Given the description of an element on the screen output the (x, y) to click on. 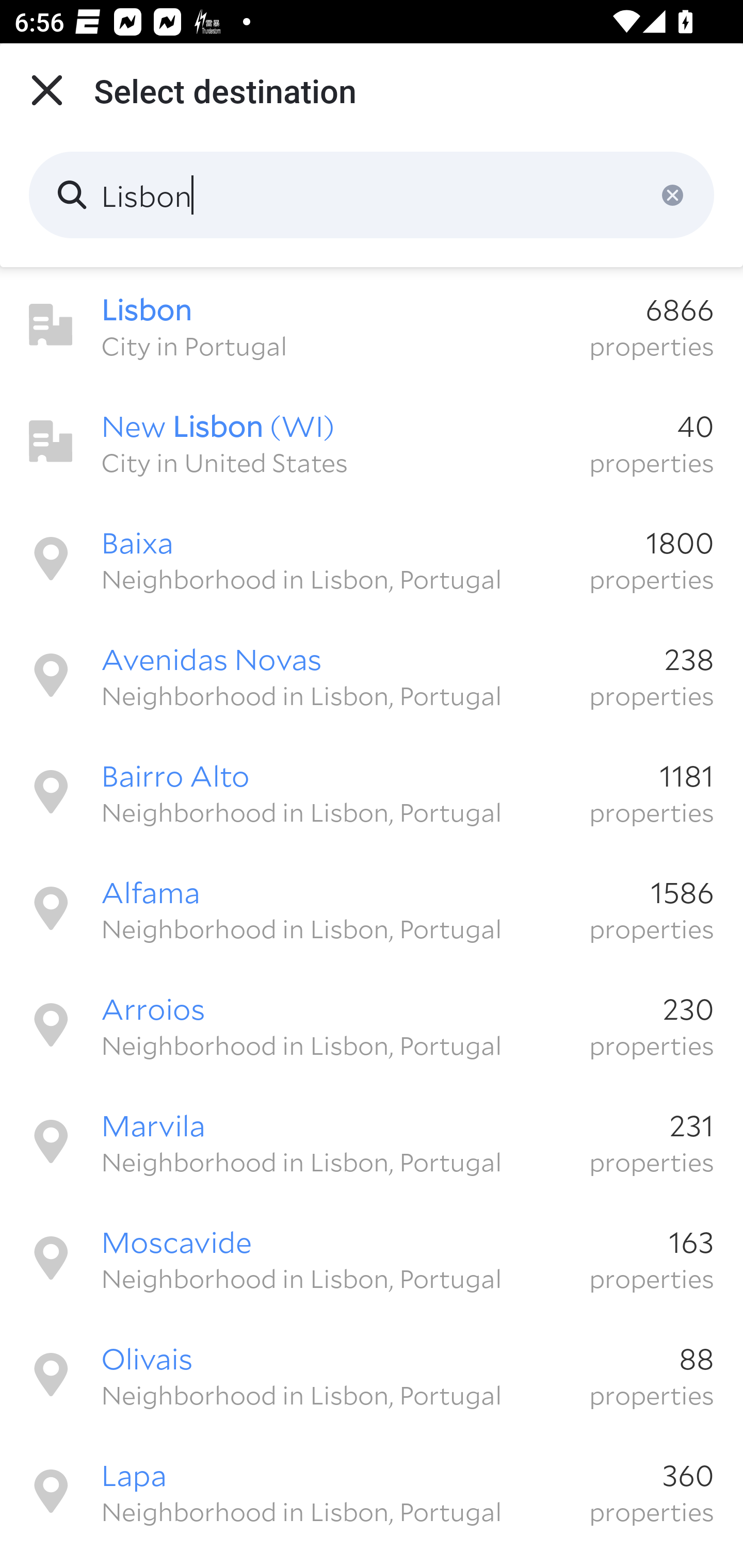
Lisbon (371, 195)
Lisbon 6866 City in Portugal properties (371, 325)
